Given the description of an element on the screen output the (x, y) to click on. 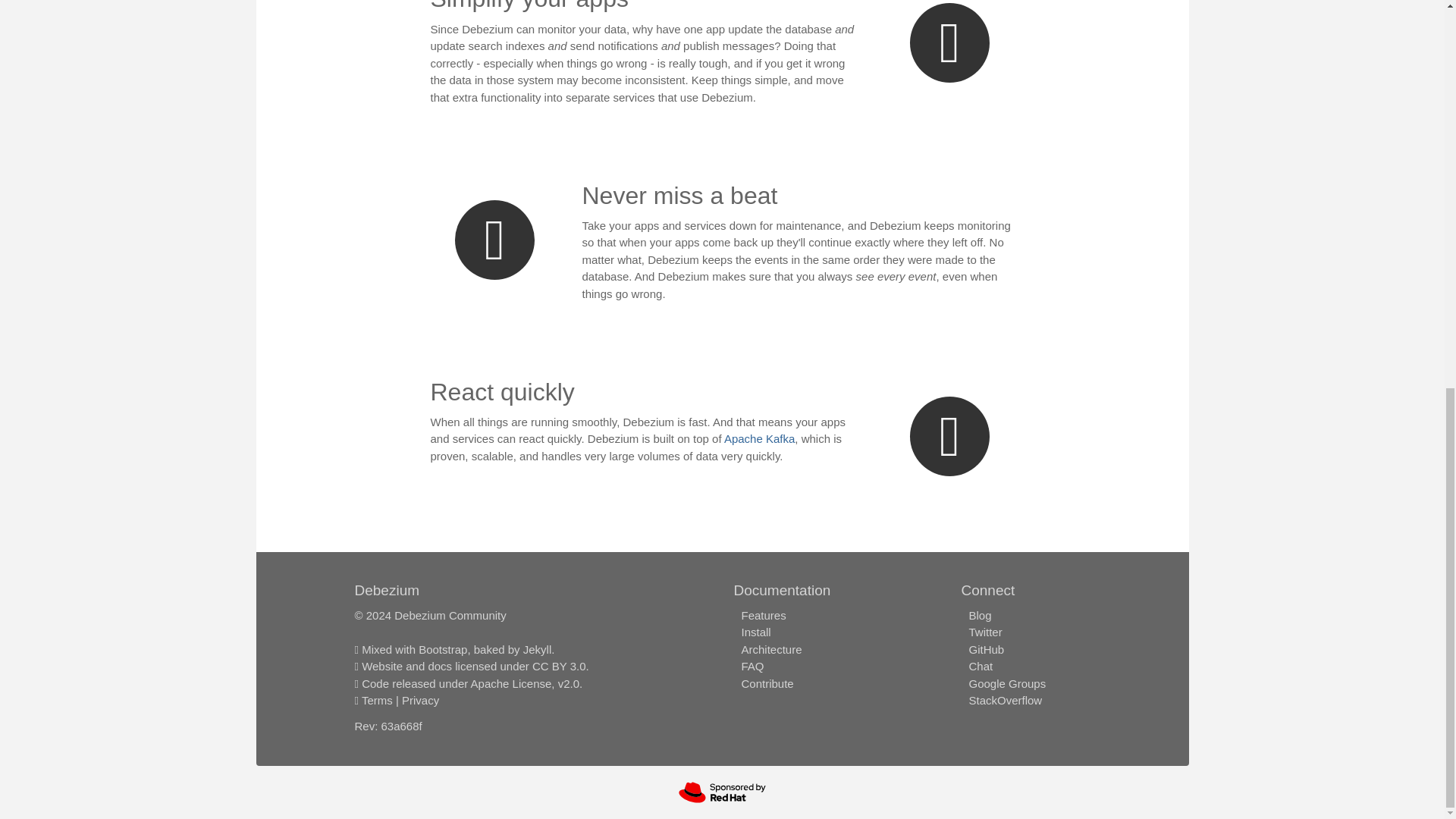
StackOverflow (1005, 699)
Blog (979, 615)
Chat (980, 666)
Jekyll (536, 649)
FAQ (751, 666)
Terms (377, 699)
StackOverflow (1005, 699)
Twitter (984, 631)
Apache License, v2.0 (524, 683)
Bootstrap (443, 649)
Install (755, 631)
Contribute (767, 683)
Architecture (771, 649)
Google Groups (1006, 683)
FAQ (751, 666)
